Given the description of an element on the screen output the (x, y) to click on. 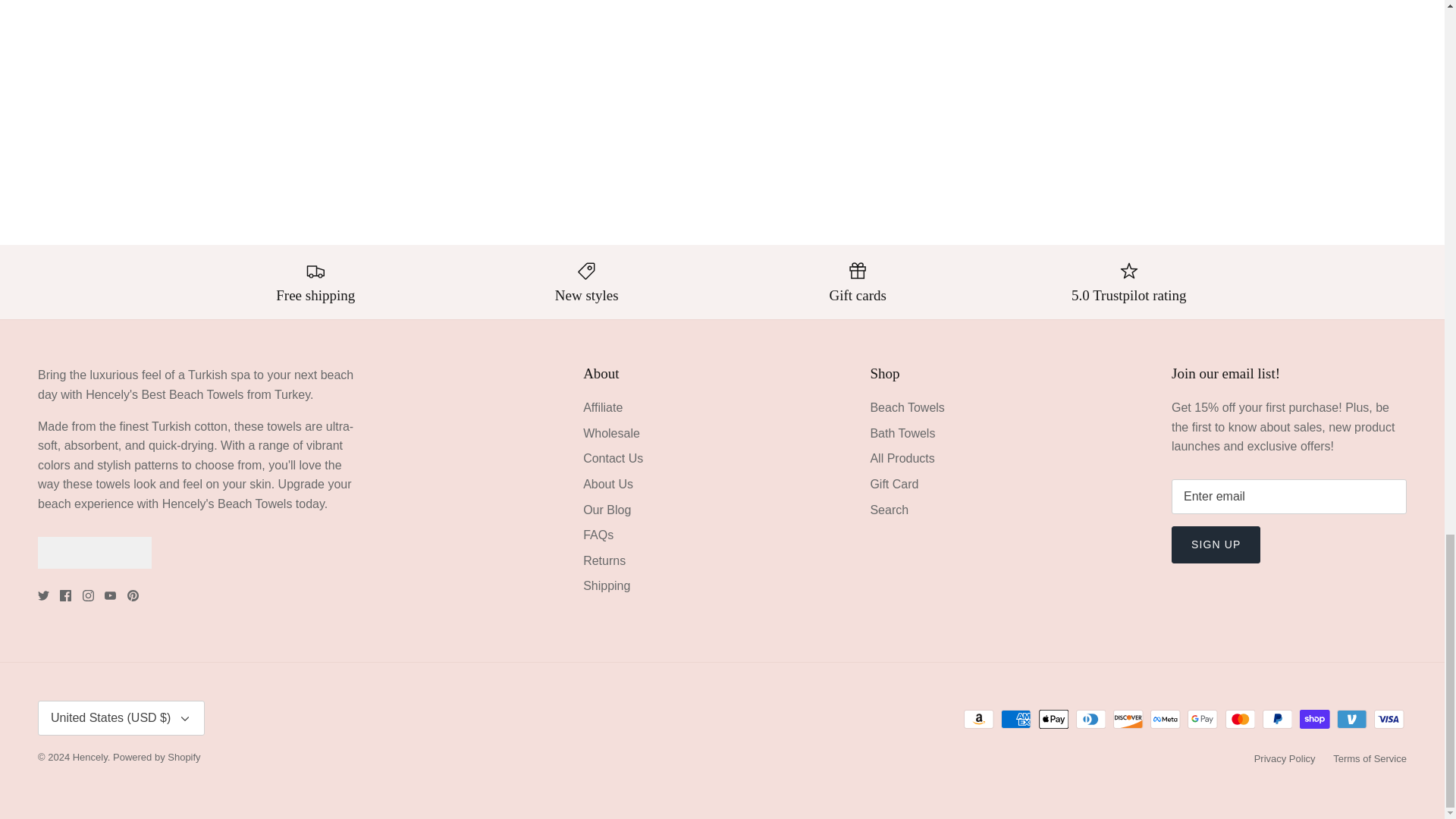
Youtube (110, 595)
Twitter (43, 595)
Facebook (65, 595)
Instagram (88, 595)
